Given the description of an element on the screen output the (x, y) to click on. 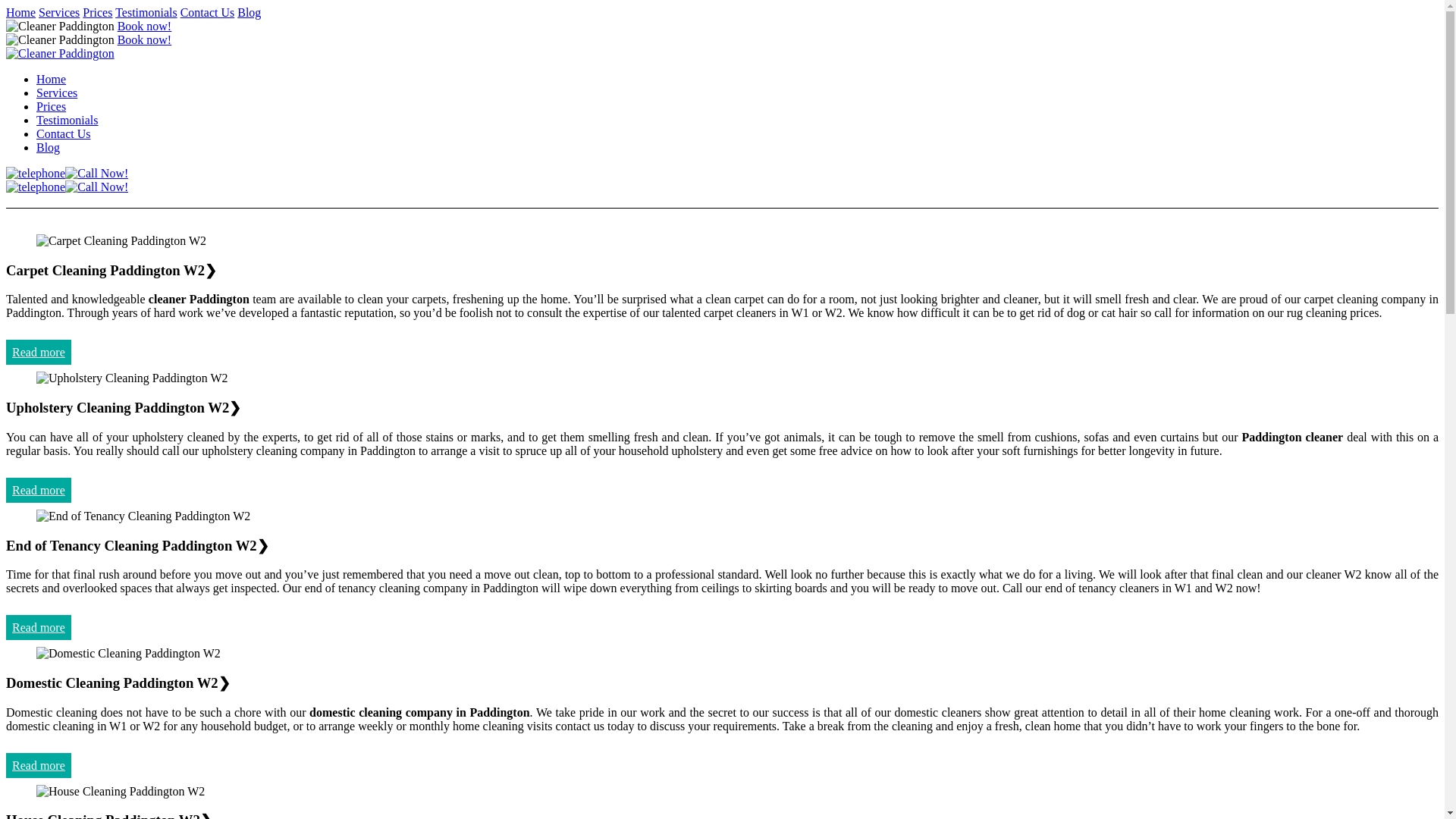
Book Now (144, 39)
Blog (248, 11)
Read more (38, 765)
Read more (38, 489)
Cleaner Paddington (60, 26)
Blog (47, 146)
Services (59, 11)
Book Now (144, 25)
Cleaner Paddington (60, 39)
Home (19, 11)
